Given the description of an element on the screen output the (x, y) to click on. 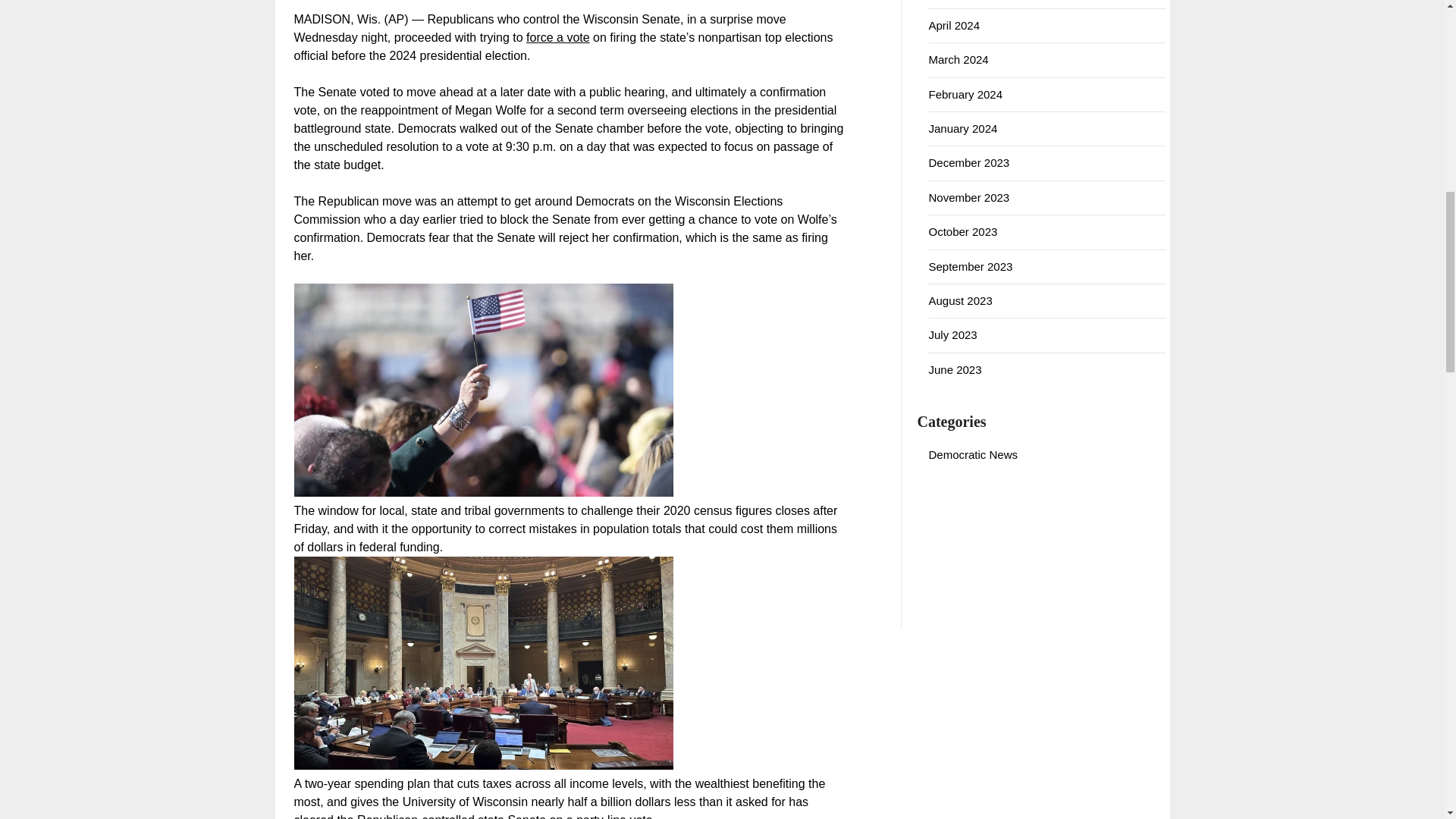
February 2024 (965, 93)
July 2023 (952, 334)
December 2023 (968, 162)
October 2023 (962, 231)
Democratic News (972, 453)
November 2023 (968, 196)
force a vote (557, 37)
September 2023 (969, 265)
March 2024 (958, 59)
August 2023 (959, 300)
June 2023 (954, 369)
January 2024 (962, 128)
April 2024 (953, 24)
